Given the description of an element on the screen output the (x, y) to click on. 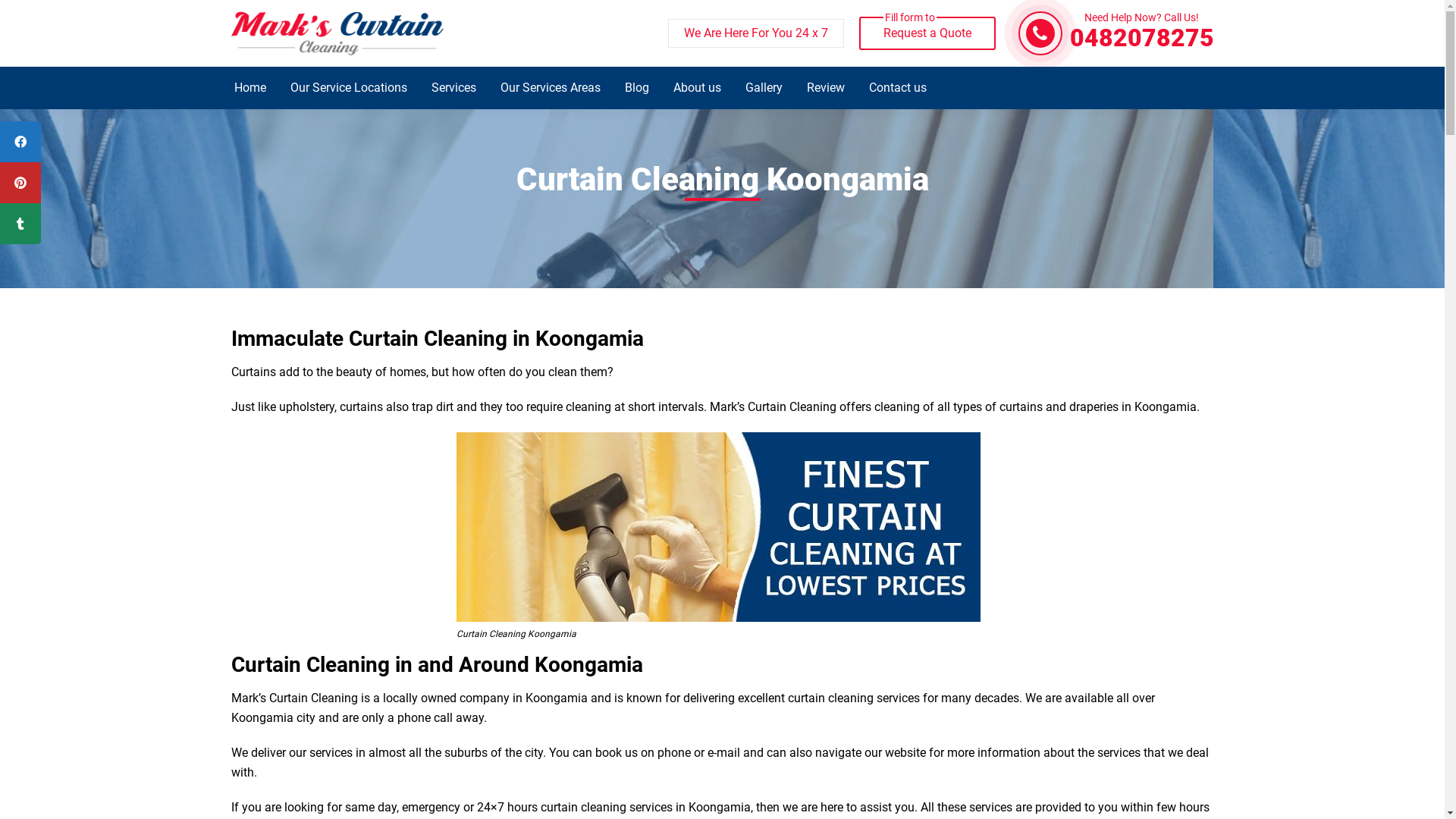
Our Service Locations Element type: text (348, 87)
Fill form to
Request a Quote Element type: text (926, 33)
Need Help Now? Call Us!
0482078275 Element type: text (1141, 32)
Home Element type: text (249, 87)
Services Element type: text (453, 87)
About us Element type: text (696, 87)
Review Element type: text (824, 87)
Gallery Element type: text (763, 87)
Contact us Element type: text (896, 87)
Blog Element type: text (635, 87)
Our Services Areas Element type: text (549, 87)
